Given the description of an element on the screen output the (x, y) to click on. 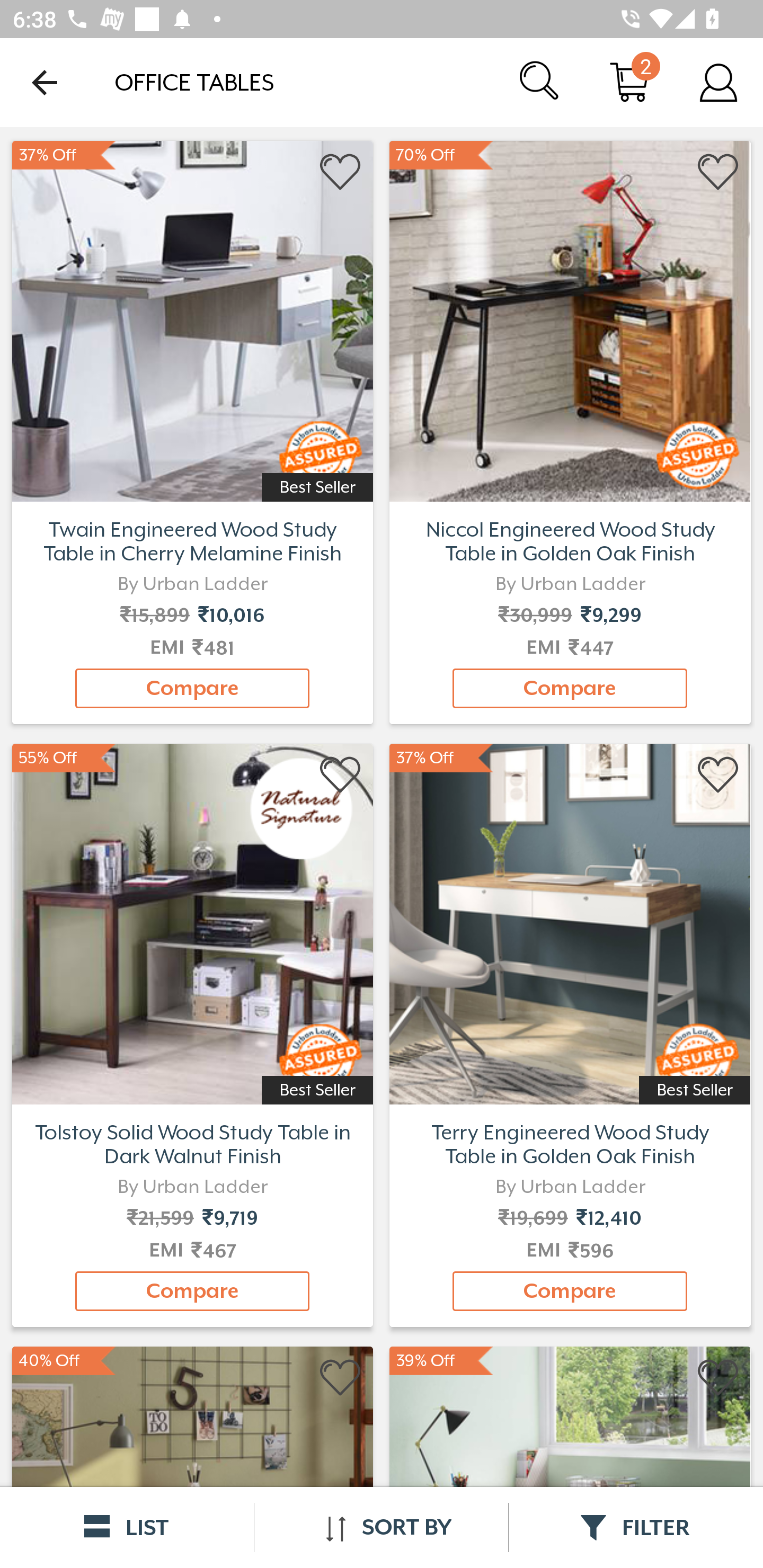
Navigate up (44, 82)
Search (540, 81)
Cart (629, 81)
Account Details (718, 81)
465+ options Study Tables Starting from  ₹602 (191, 318)
1102+ options Study Chairs Starting from  ₹3,077 (570, 318)
 (341, 172)
 (718, 172)
Compare (192, 687)
Compare (569, 687)
 (341, 775)
 (718, 775)
Compare (192, 1290)
Compare (569, 1290)
 (341, 1377)
 (718, 1377)
 LIST (127, 1527)
SORT BY (381, 1527)
 FILTER (635, 1527)
